Given the description of an element on the screen output the (x, y) to click on. 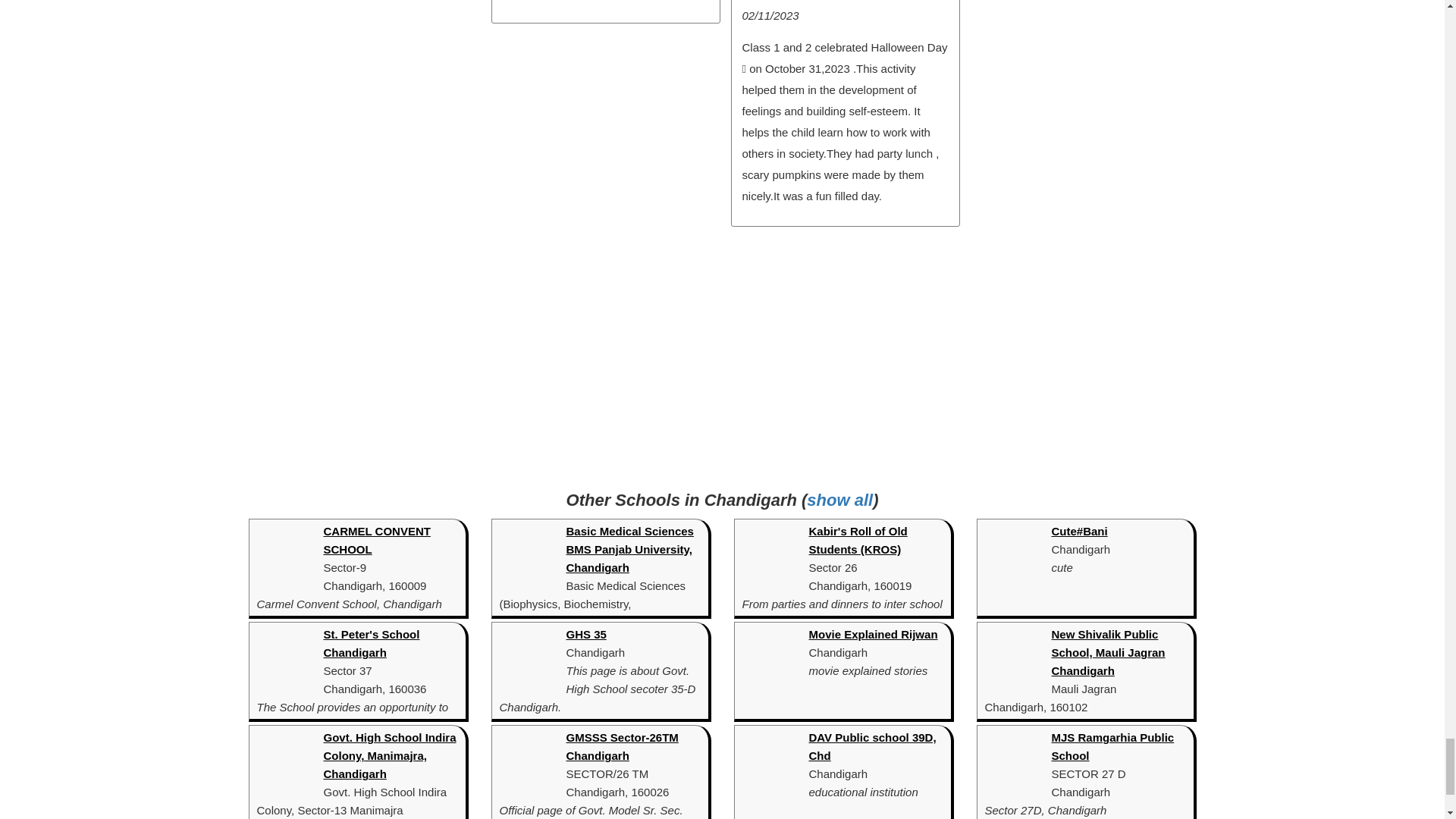
Basic Medical Sciences BMS Panjab University, Chandigarh (629, 549)
St. Peter's School Chandigarh (371, 643)
show all (839, 499)
CARMEL CONVENT SCHOOL (376, 540)
GHS 35 (585, 634)
